Given the description of an element on the screen output the (x, y) to click on. 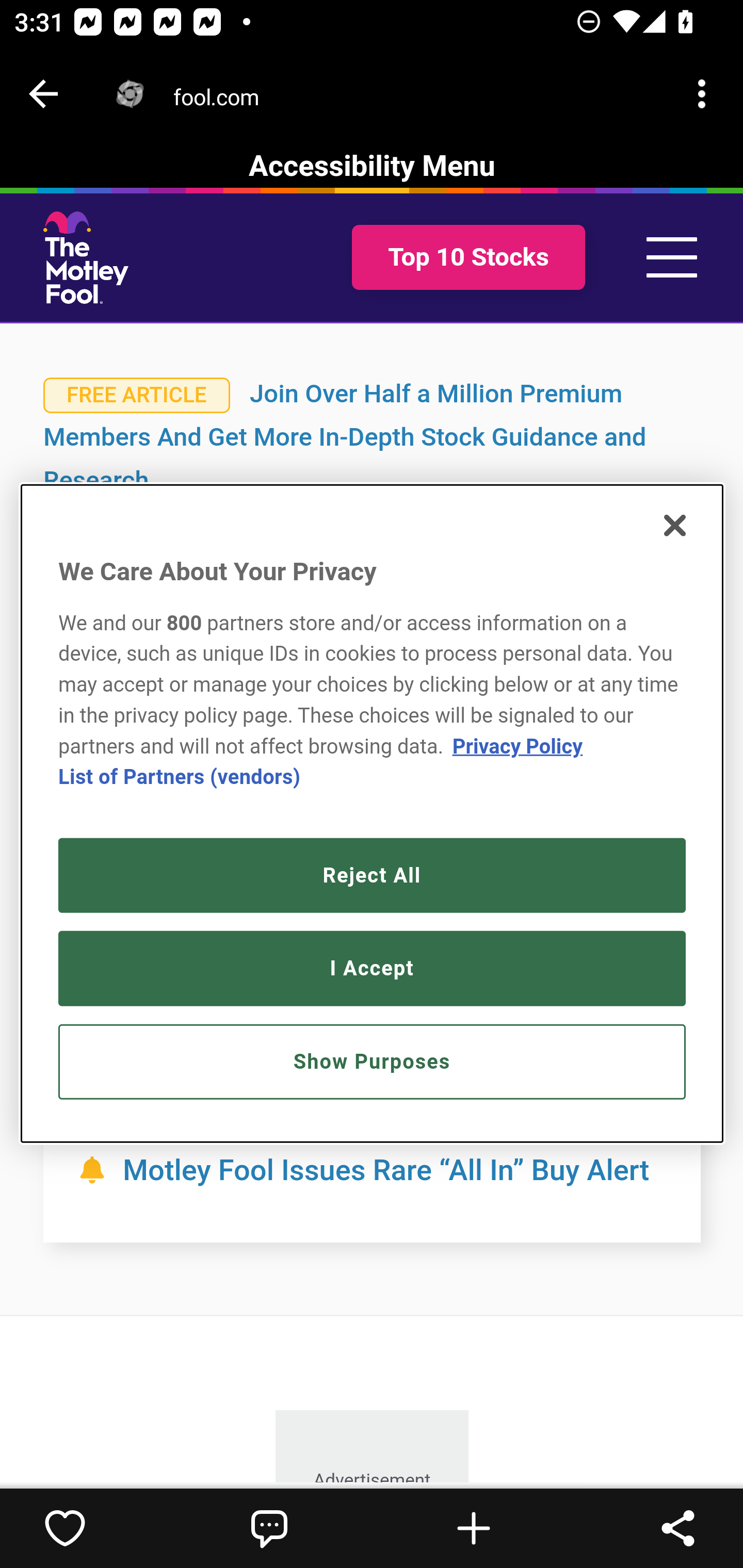
Close tab (43, 93)
Customize and control Google Chrome (705, 93)
Connection is secure (129, 93)
Accessibility Menu (371, 166)
The Motley Fool (86, 257)
Top 10 Stocks (467, 257)
Bars (672, 256)
Close (673, 525)
List of Partners (vendors) (179, 778)
Reject All (371, 876)
I Accept (371, 967)
Show Purposes (371, 1061)
Motley Fool Issues Rare “All In” Buy Alert (386, 1170)
Like (64, 1528)
Write a comment… (269, 1528)
Flip into Magazine (473, 1528)
Share (677, 1528)
